Given the description of an element on the screen output the (x, y) to click on. 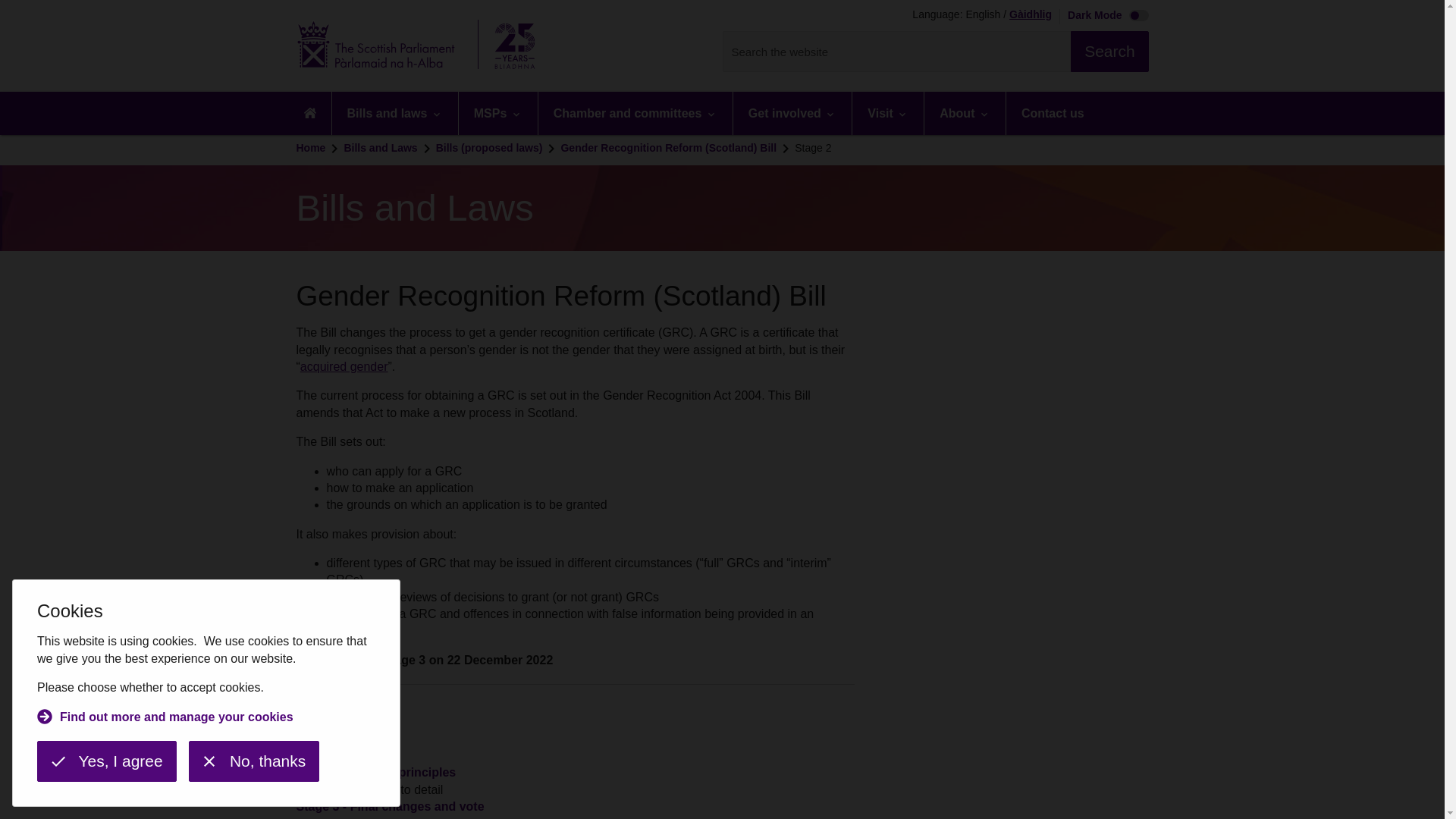
Scottish Parliament Website home (419, 45)
Search (1109, 51)
Chamber and committees (635, 113)
MSPs (497, 113)
Yes, I agree (106, 761)
No, thanks (252, 761)
Bills and laws (394, 113)
Find out more and manage your cookies (165, 718)
Dark Mode (1103, 16)
